Given the description of an element on the screen output the (x, y) to click on. 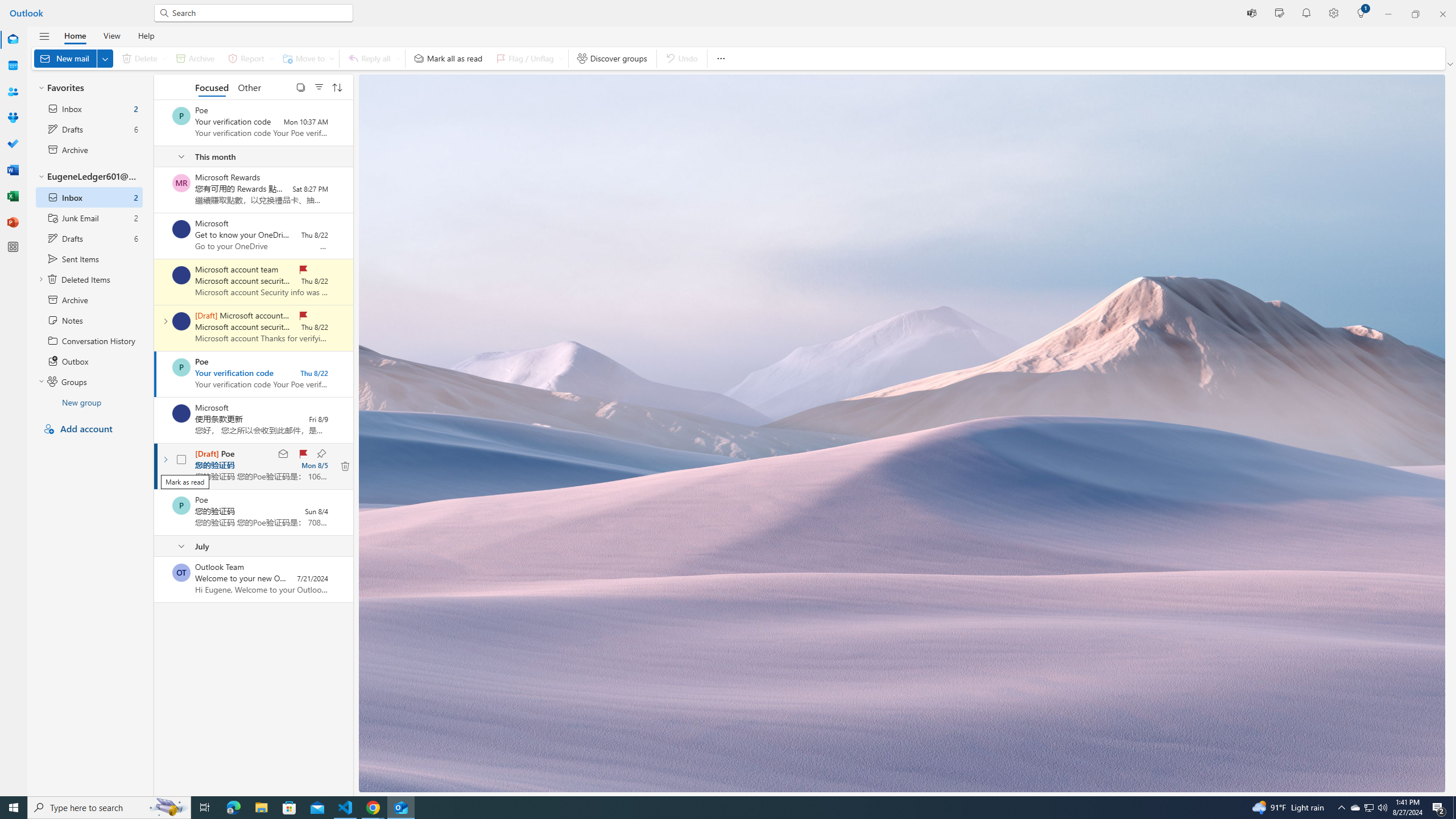
Mail (12, 39)
Calendar (12, 65)
More apps (12, 246)
Ribbon display options (1450, 63)
Focused (212, 86)
Mark all as read (448, 58)
Microsoft account team (180, 321)
Calendar (12, 65)
Unflag this message (302, 453)
Excel (12, 196)
New mail (73, 58)
Mail (12, 39)
PowerPoint (12, 222)
